Given the description of an element on the screen output the (x, y) to click on. 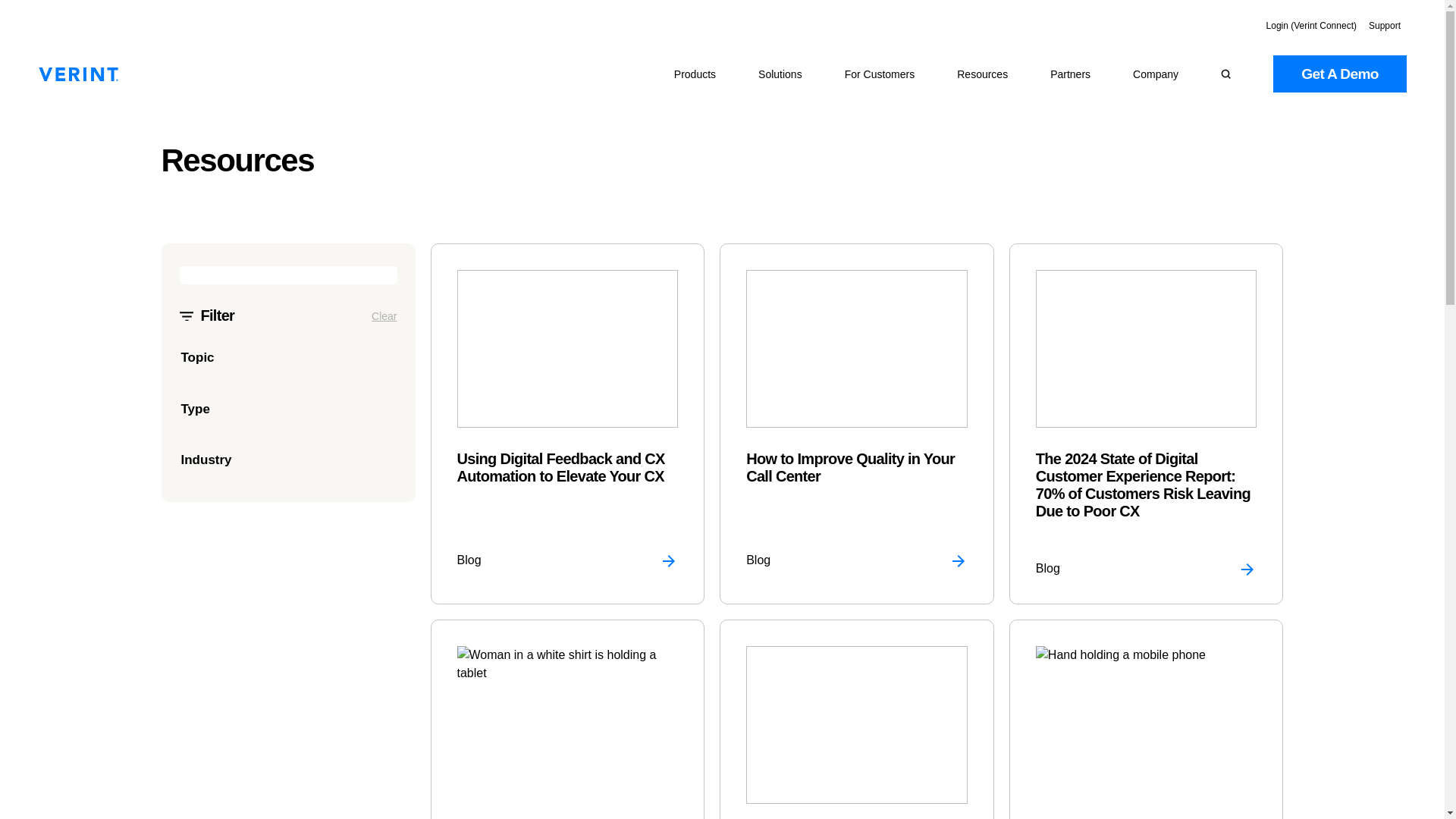
Support (1384, 25)
Verint (78, 74)
Skip to main content (15, 7)
Products (694, 73)
For Customers (880, 73)
Solutions (780, 73)
